Given the description of an element on the screen output the (x, y) to click on. 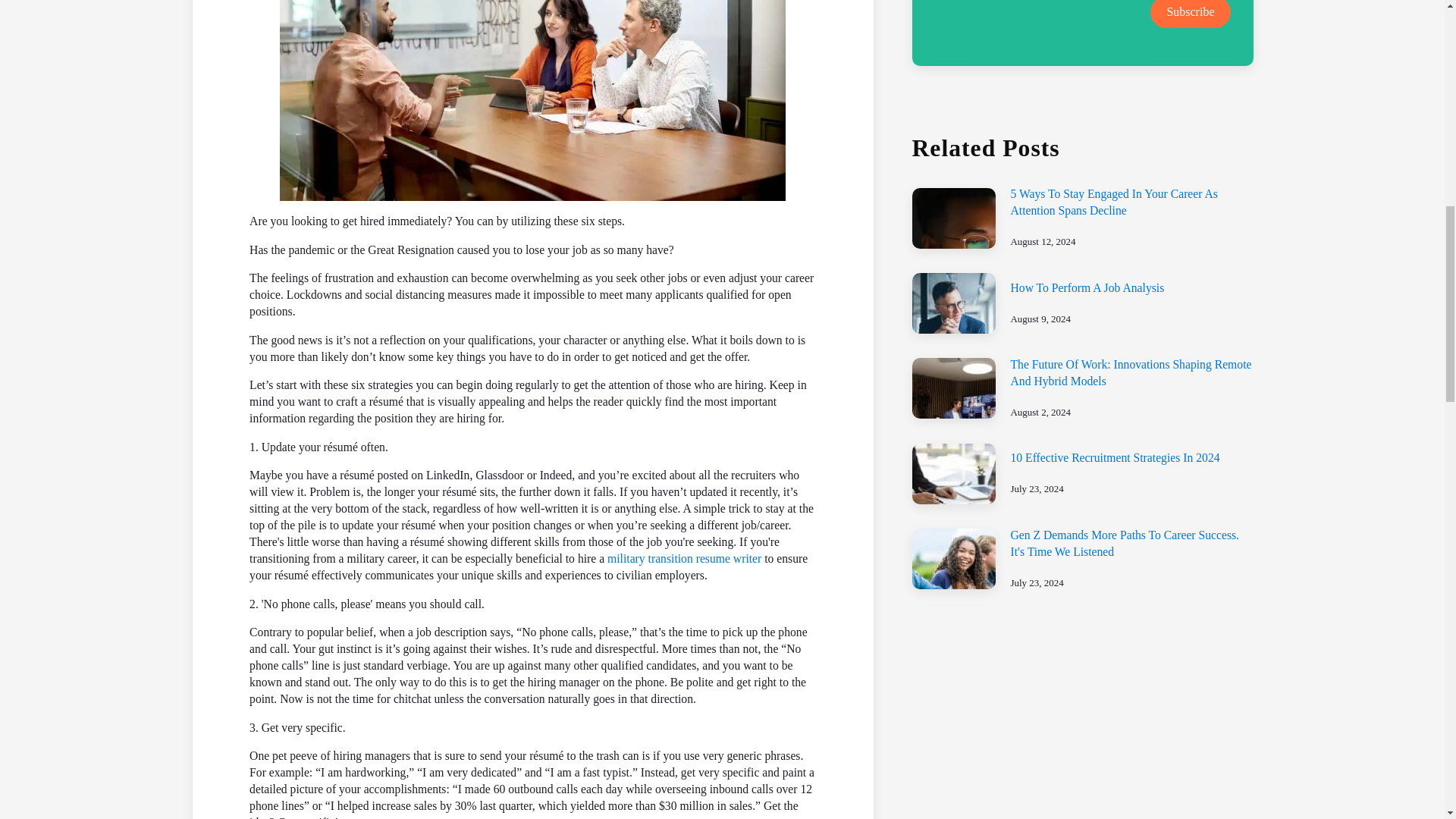
10 Effective Recruitment Strategies In 2024 (1115, 457)
Subscribe (1190, 13)
How To Perform A Job Analysis (1086, 287)
military transition resume writer (684, 558)
